Given the description of an element on the screen output the (x, y) to click on. 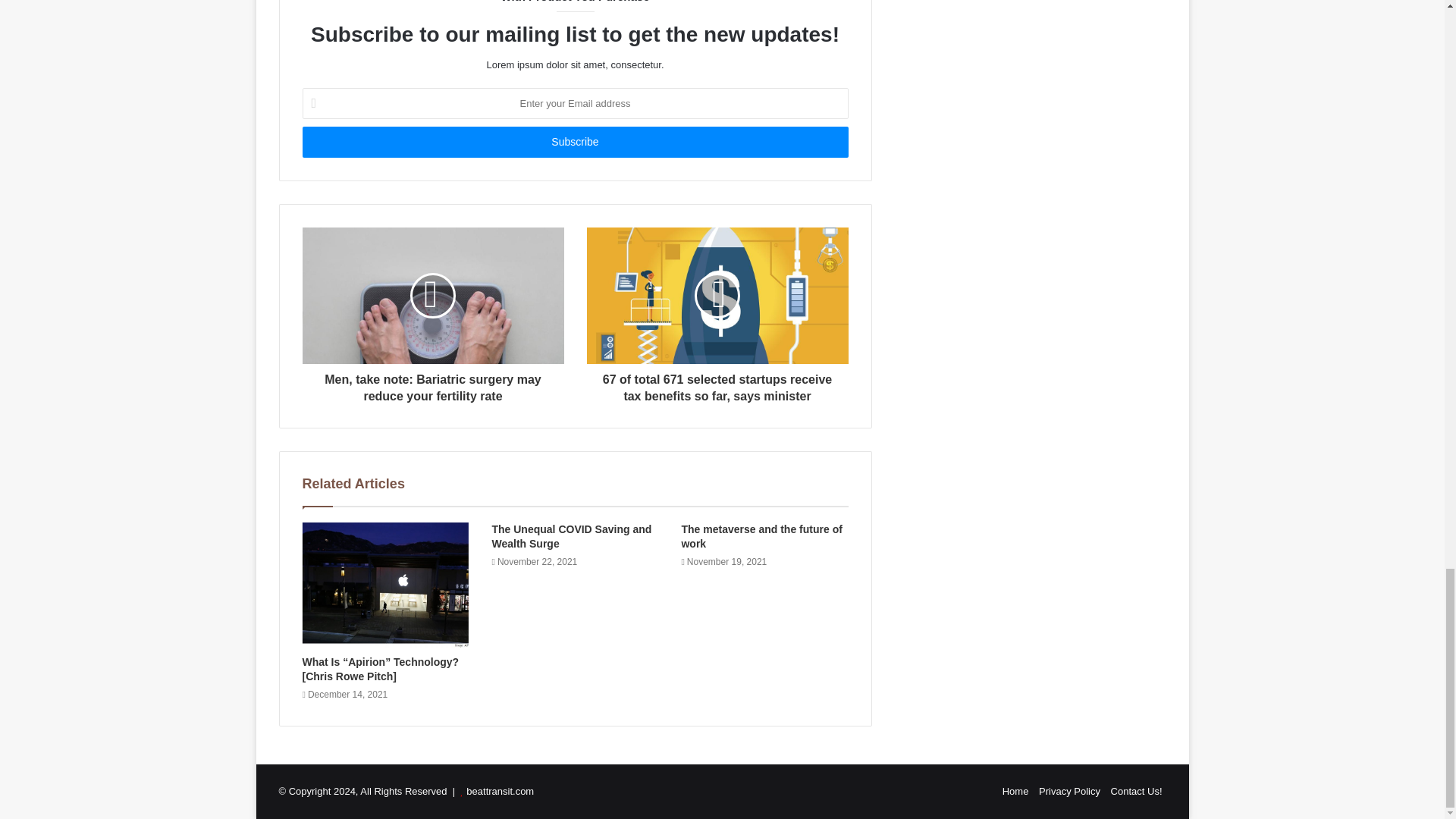
Subscribe (574, 142)
